Given the description of an element on the screen output the (x, y) to click on. 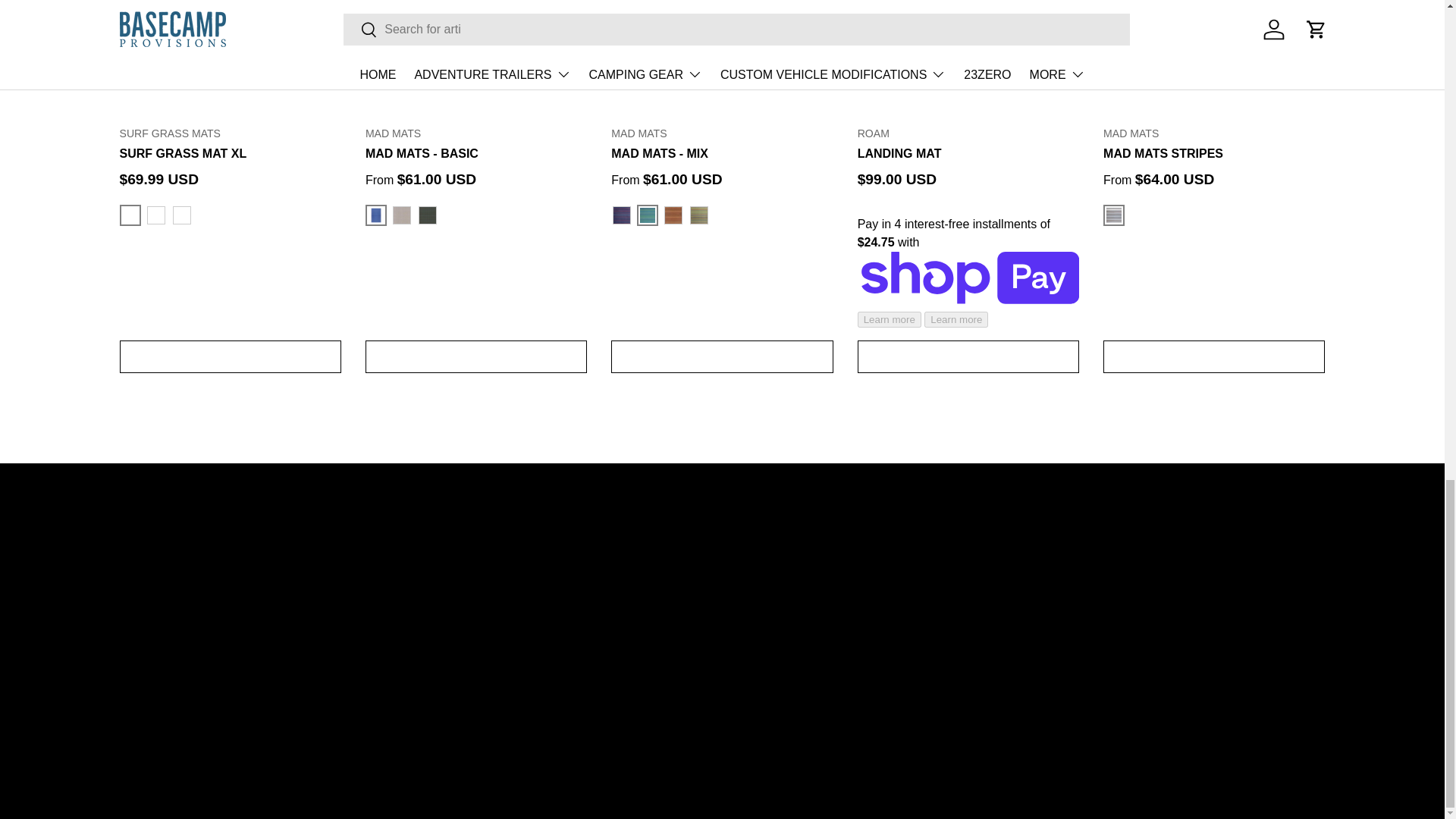
EARTH (672, 215)
TROPICAL (647, 215)
BLUE (129, 215)
